Given the description of an element on the screen output the (x, y) to click on. 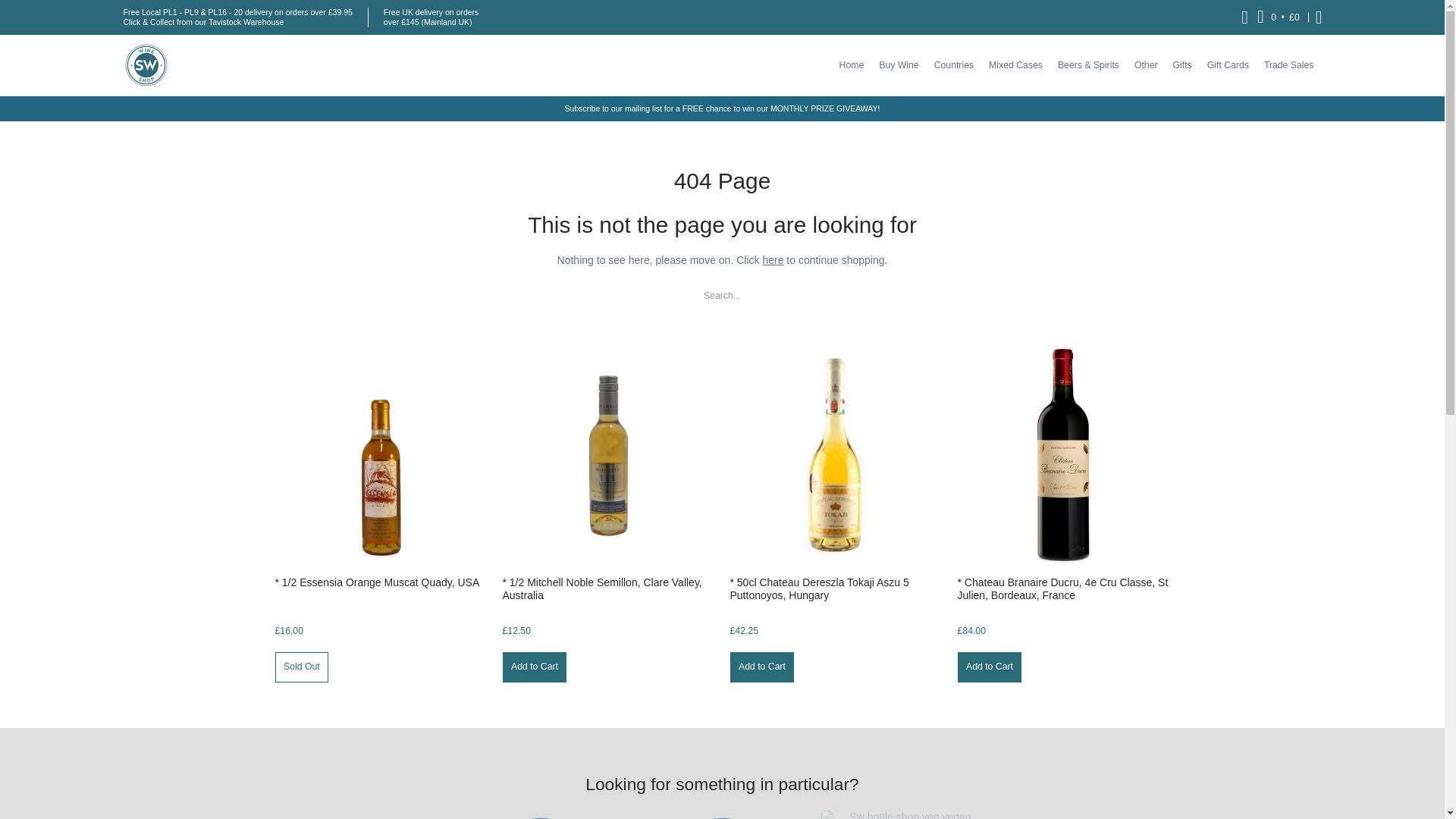
Buy Wine (898, 65)
Sold Out (302, 666)
Add to Cart (534, 666)
Cart (1278, 17)
Add to Cart (761, 666)
Buy Wine (898, 65)
Add to Cart (989, 666)
Countries (953, 65)
